Given the description of an element on the screen output the (x, y) to click on. 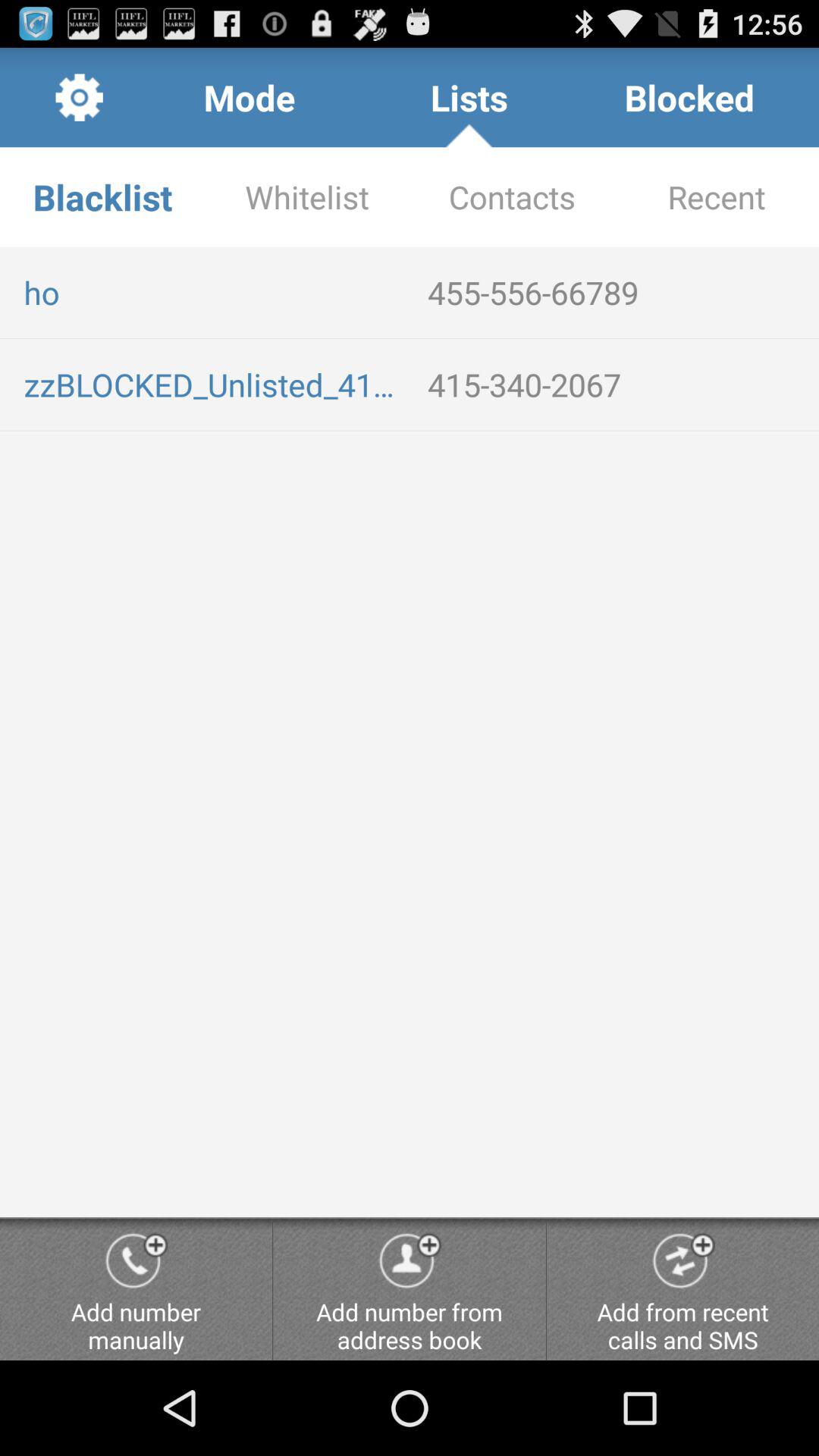
tap item next to the whitelist (511, 196)
